Given the description of an element on the screen output the (x, y) to click on. 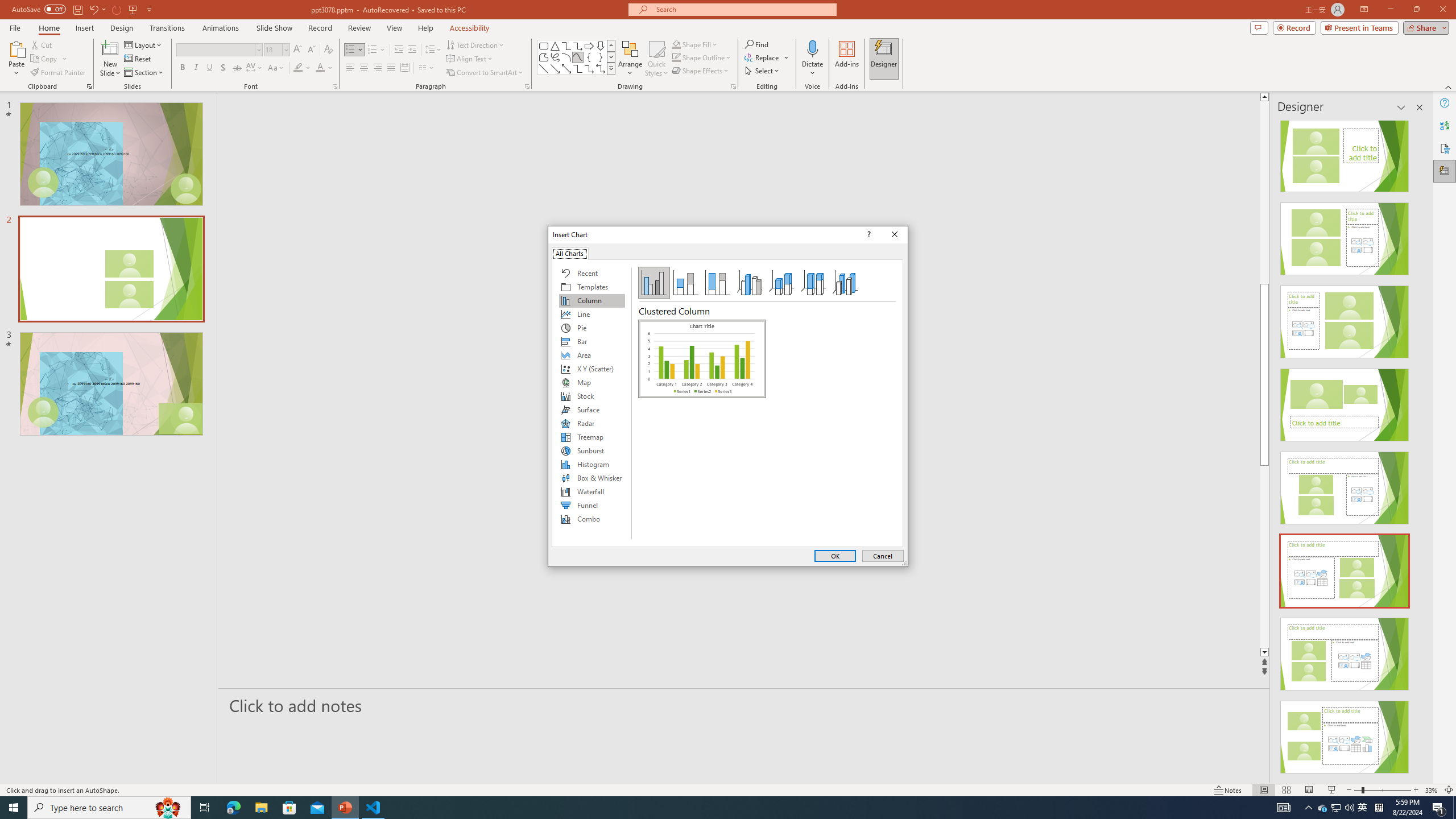
Context help (867, 234)
Connector: Elbow Double-Arrow (600, 68)
Action Center, 1 new notification (1439, 807)
3-D Column (844, 282)
